Given the description of an element on the screen output the (x, y) to click on. 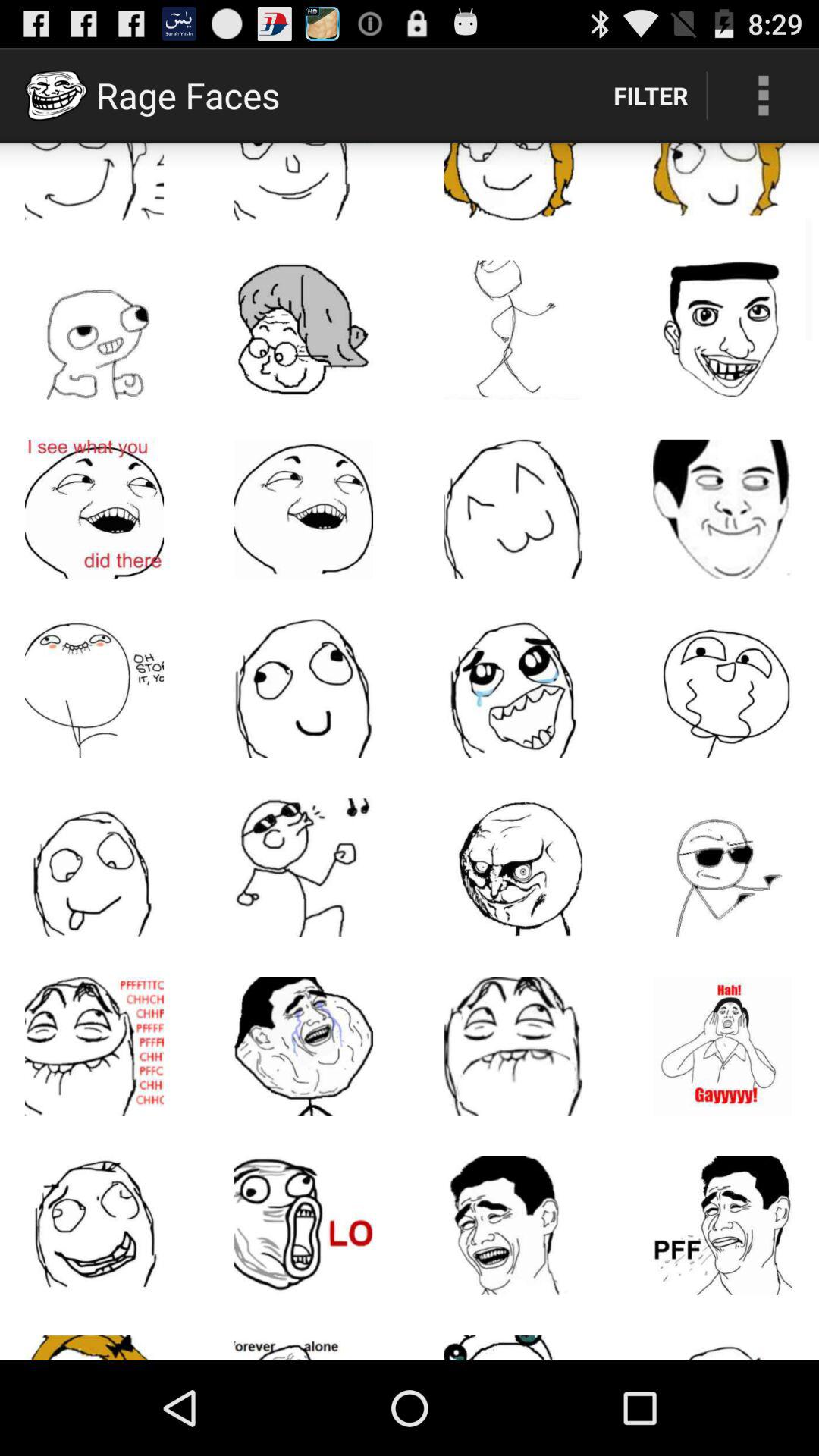
launch filter item (650, 95)
